Given the description of an element on the screen output the (x, y) to click on. 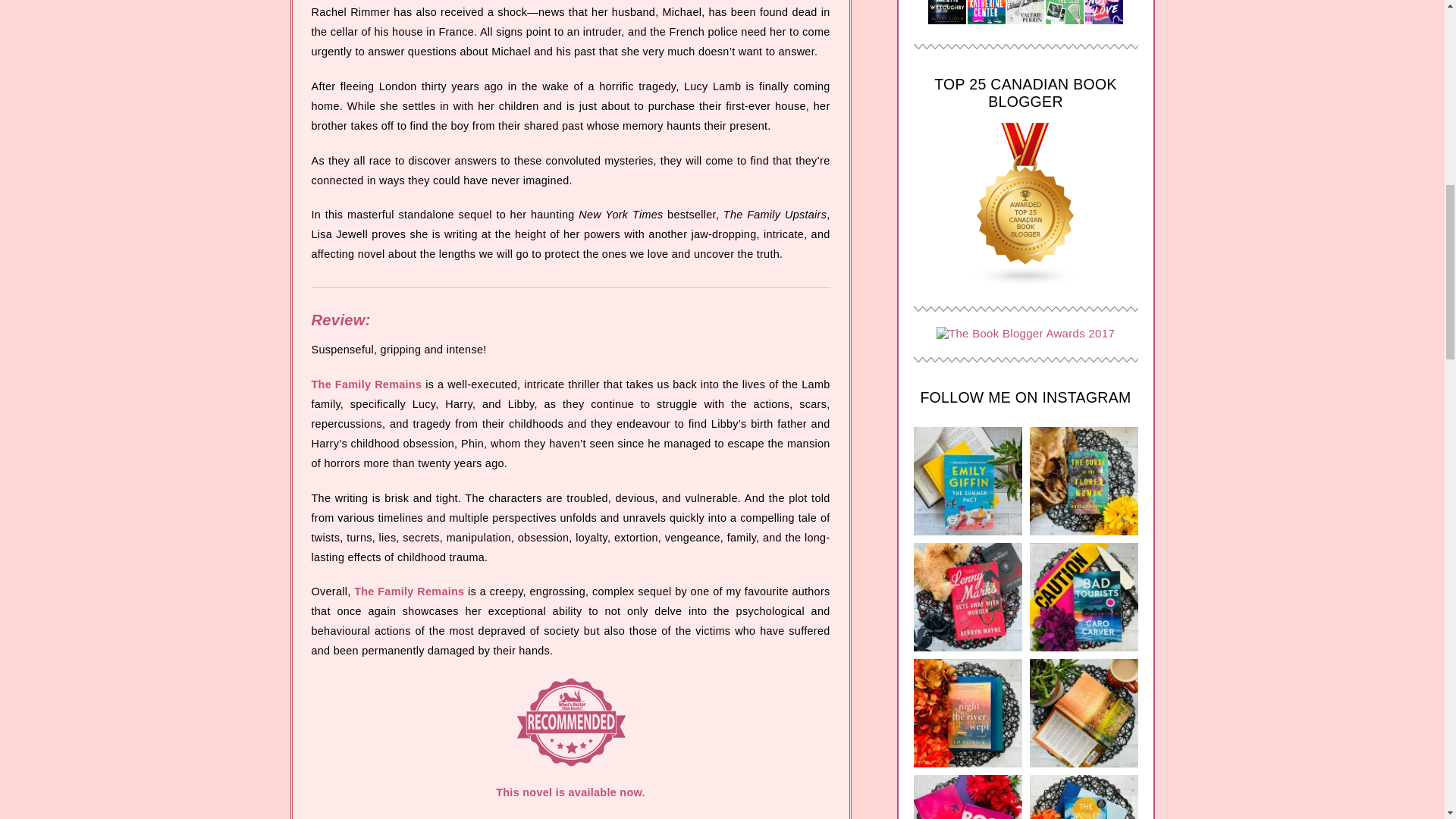
Canadian Book Bloggers (1024, 282)
Recommended light (570, 722)
